Given the description of an element on the screen output the (x, y) to click on. 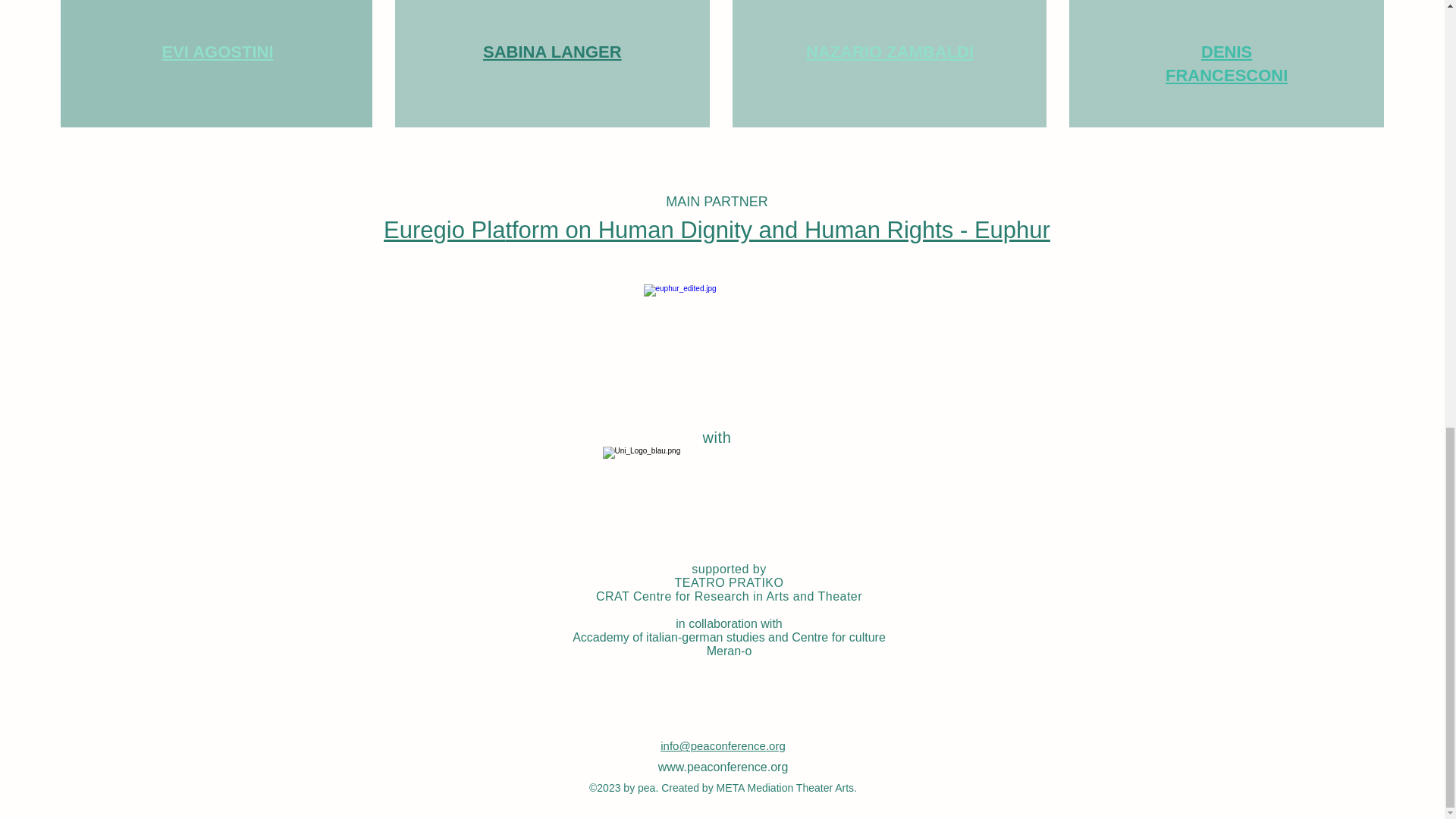
SABINA LANGER (552, 51)
www.peaconference.org (723, 766)
EVI AGOSTINI (217, 51)
DENIS FRANCESCONI (1226, 63)
Euregio Platform on Human Dignity and Human Rights - Euphur (716, 230)
NAZARIO ZAMBALDI (890, 51)
